Given the description of an element on the screen output the (x, y) to click on. 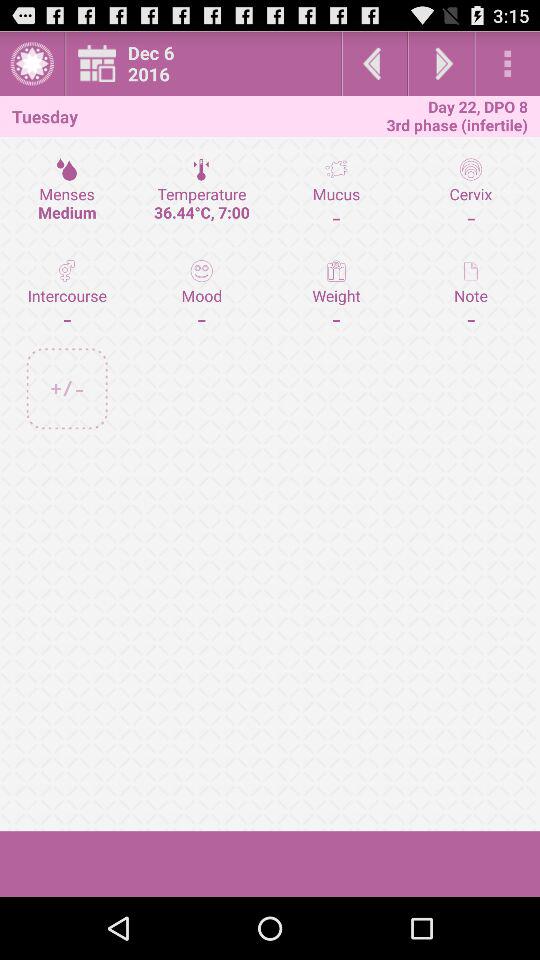
select the item at the bottom (270, 863)
